Given the description of an element on the screen output the (x, y) to click on. 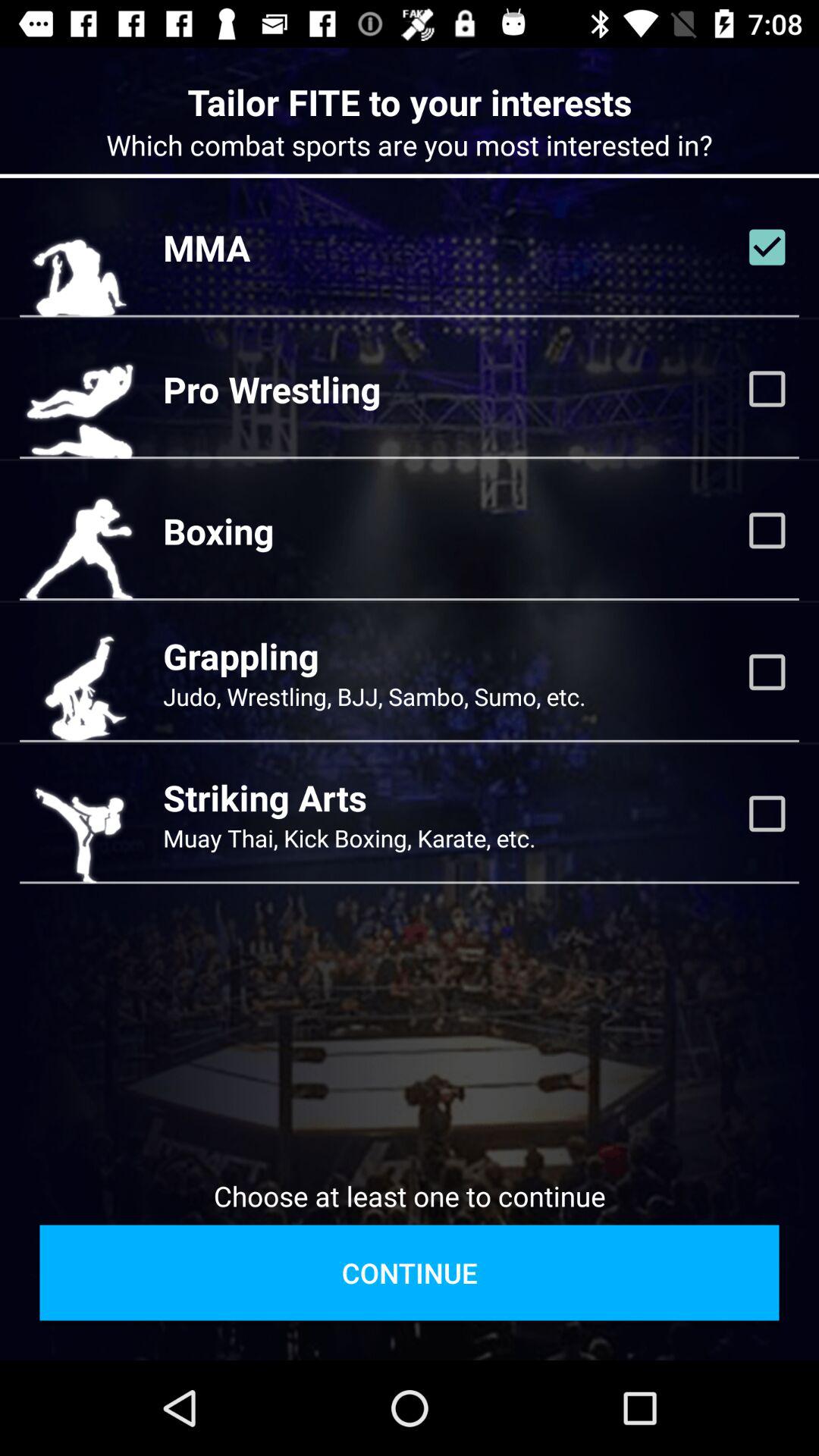
checkbox to select pro wrestling (767, 388)
